Given the description of an element on the screen output the (x, y) to click on. 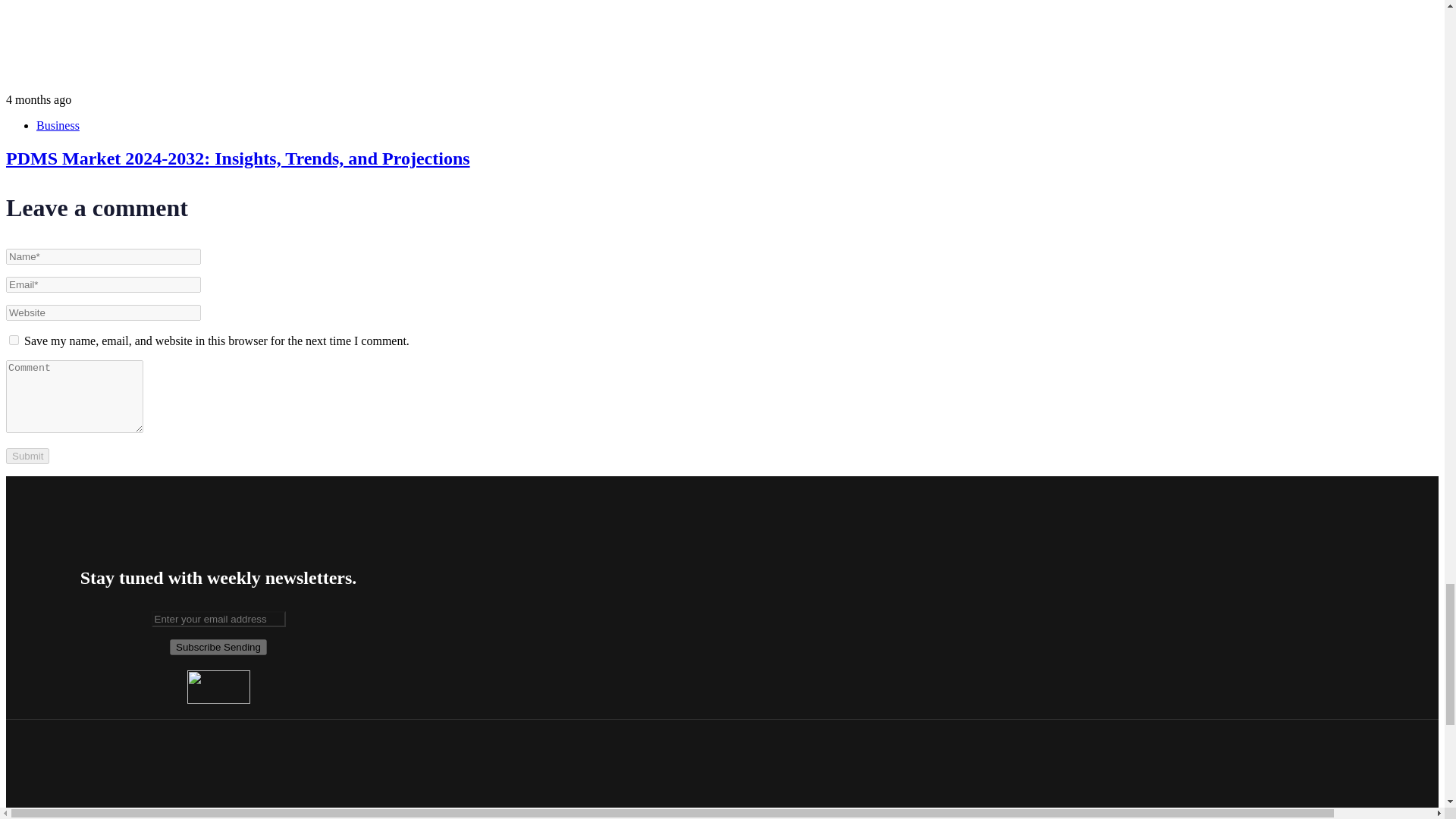
Submit (27, 455)
PDMS Market 2024-2032: Insights, Trends, and Projections (237, 158)
Subscribe Sending (218, 647)
Business (58, 124)
Submit (27, 455)
yes (13, 339)
